Given the description of an element on the screen output the (x, y) to click on. 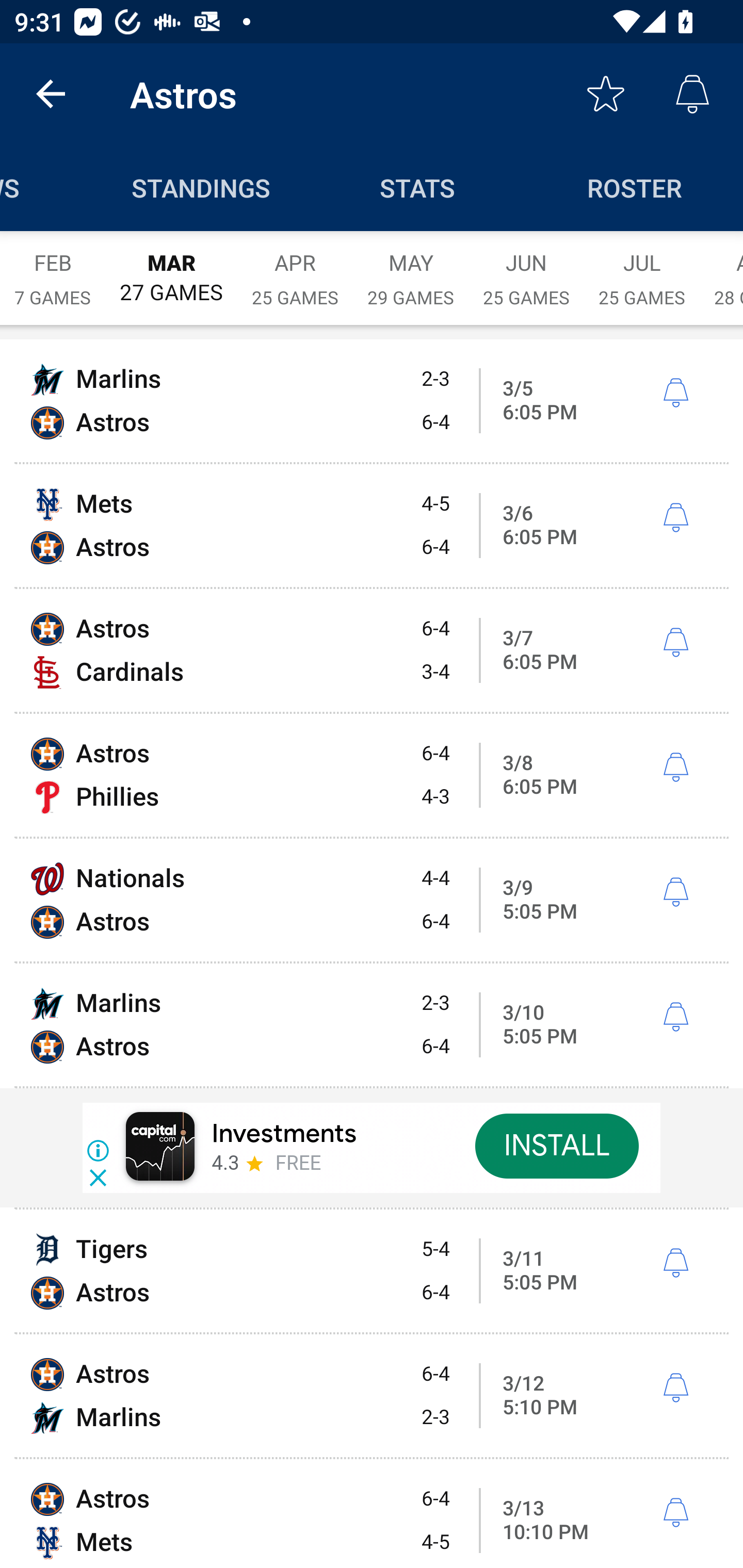
back.button (50, 93)
Favorite toggle (605, 93)
Alerts (692, 93)
Standings STANDINGS (200, 187)
Stats STATS (417, 187)
Roster ROSTER (634, 187)
FEB 7 GAMES (52, 268)
MAR 27 GAMES (171, 267)
APR 25 GAMES (294, 268)
MAY 29 GAMES (410, 268)
JUN 25 GAMES (525, 268)
JUL 25 GAMES (641, 268)
Marlins 2-3 Astros 6-4 3/5 6:05 PM í (371, 400)
í (675, 392)
Mets 4-5 Astros 6-4 3/6 6:05 PM í (371, 525)
í (675, 517)
Astros 6-4 Cardinals 3-4 3/7 6:05 PM í (371, 650)
í (675, 642)
Astros 6-4 Phillies 4-3 3/8 6:05 PM í (371, 775)
í (675, 767)
Nationals 4-4 Astros 6-4 3/9 5:05 PM í (371, 899)
í (675, 892)
Marlins 2-3 Astros 6-4 3/10 5:05 PM í (371, 1024)
í (675, 1016)
INSTALL (556, 1146)
Investments (283, 1133)
Tigers 5-4 Astros 6-4 3/11 5:05 PM í (371, 1270)
í (675, 1262)
Astros 6-4 Marlins 2-3 3/12 5:10 PM í (371, 1395)
í (675, 1388)
Astros 6-4 Mets 4-5 3/13 10:10 PM í (371, 1513)
í (675, 1512)
